Given the description of an element on the screen output the (x, y) to click on. 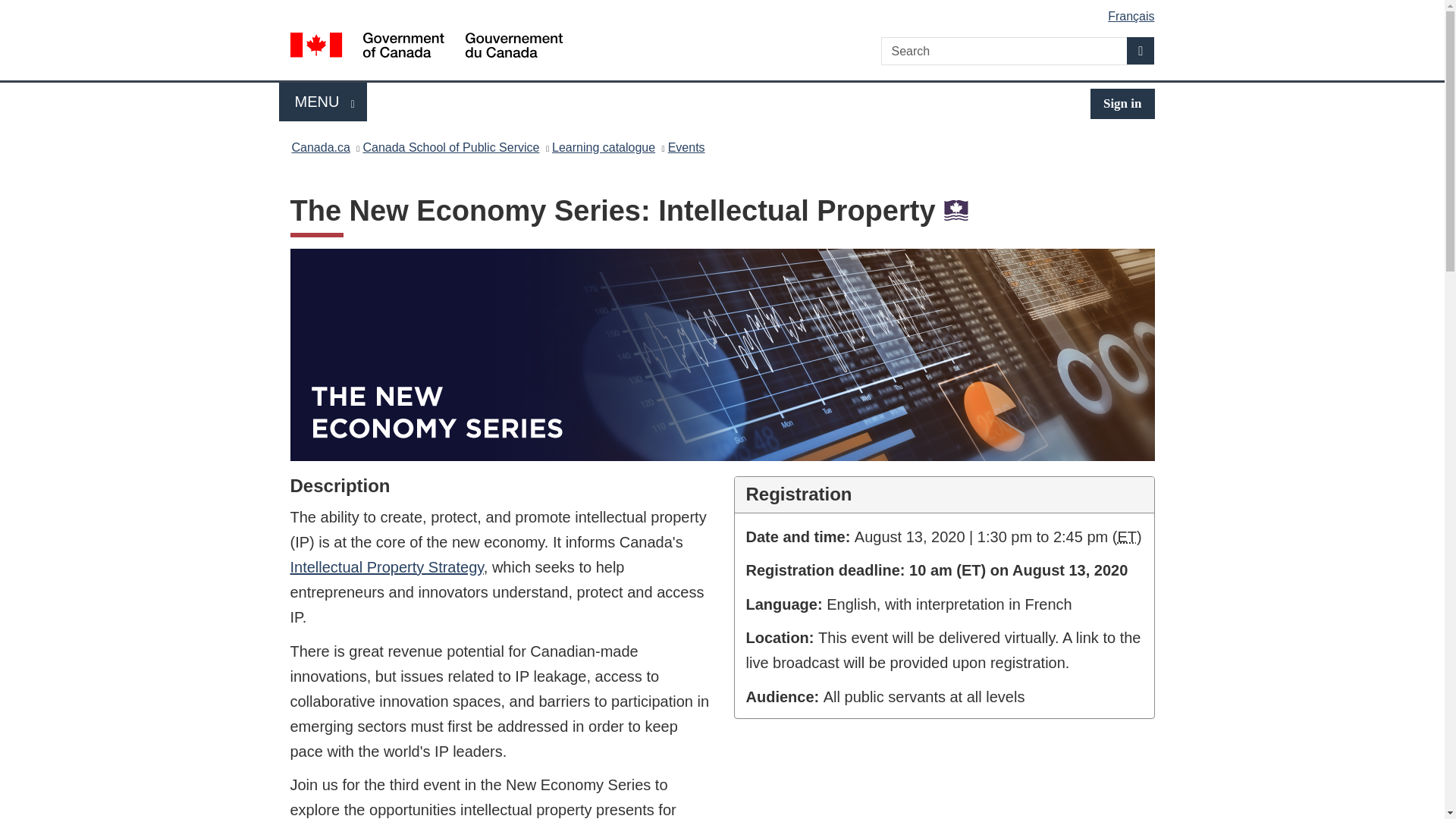
Sign in (1122, 103)
Canada.ca (320, 147)
Intellectual Property Strategy (386, 566)
Canada School of Public Service (450, 147)
Skip to main content (322, 101)
Learning catalogue (725, 11)
Events (603, 147)
Eastern Time (686, 147)
Search (1126, 536)
